Given the description of an element on the screen output the (x, y) to click on. 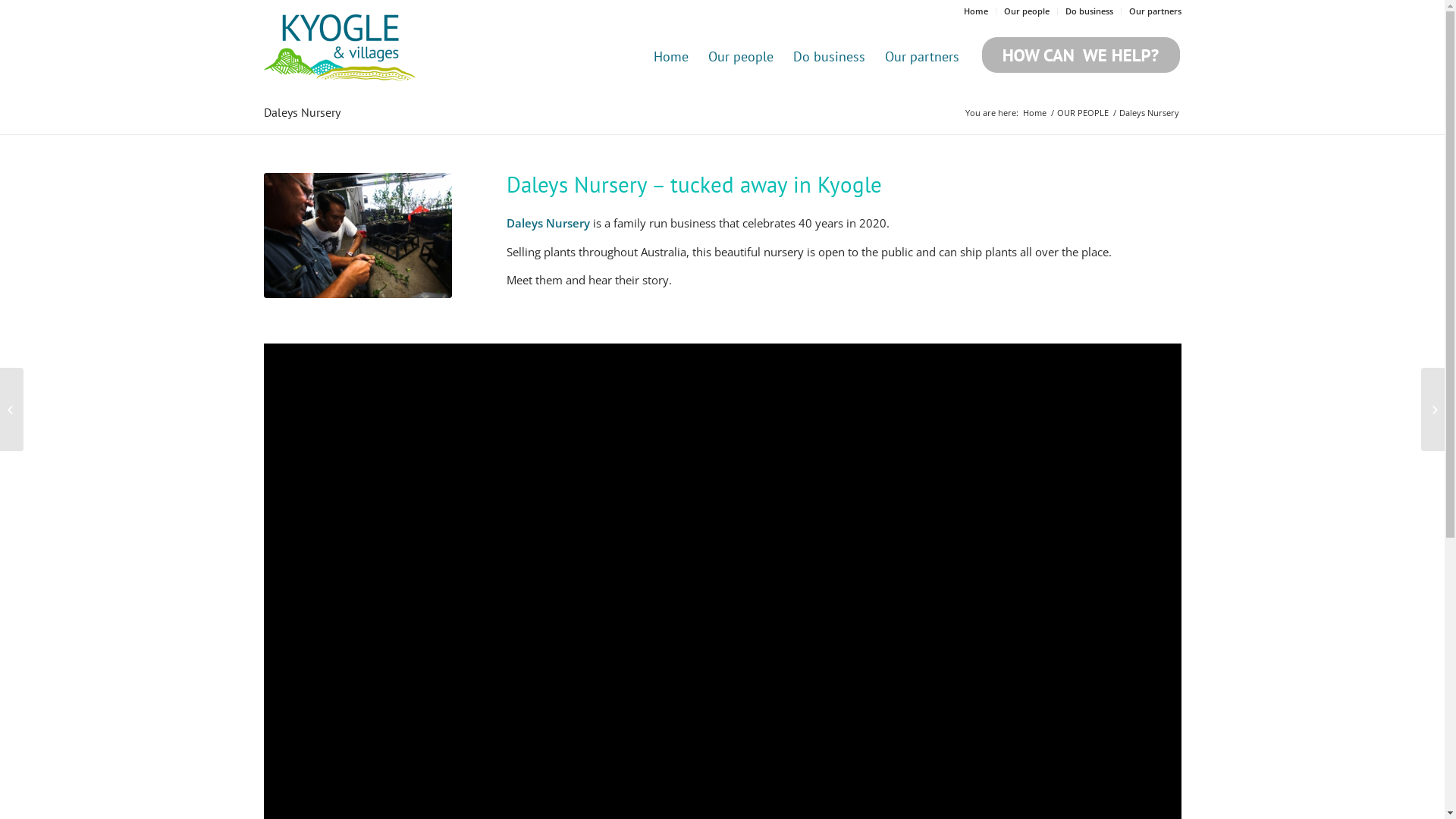
OUR PEOPLE Element type: text (1082, 112)
Home Element type: text (975, 10)
Our people Element type: text (739, 56)
Do business Element type: text (828, 56)
Home Element type: text (1034, 112)
Home Element type: text (670, 56)
IMG_5480-min[1] Element type: hover (357, 235)
Do business Element type: text (1088, 10)
Daleys Nursery Element type: text (301, 111)
Our partners Element type: text (1154, 10)
Our people Element type: text (1026, 10)
Our partners Element type: text (922, 56)
